Given the description of an element on the screen output the (x, y) to click on. 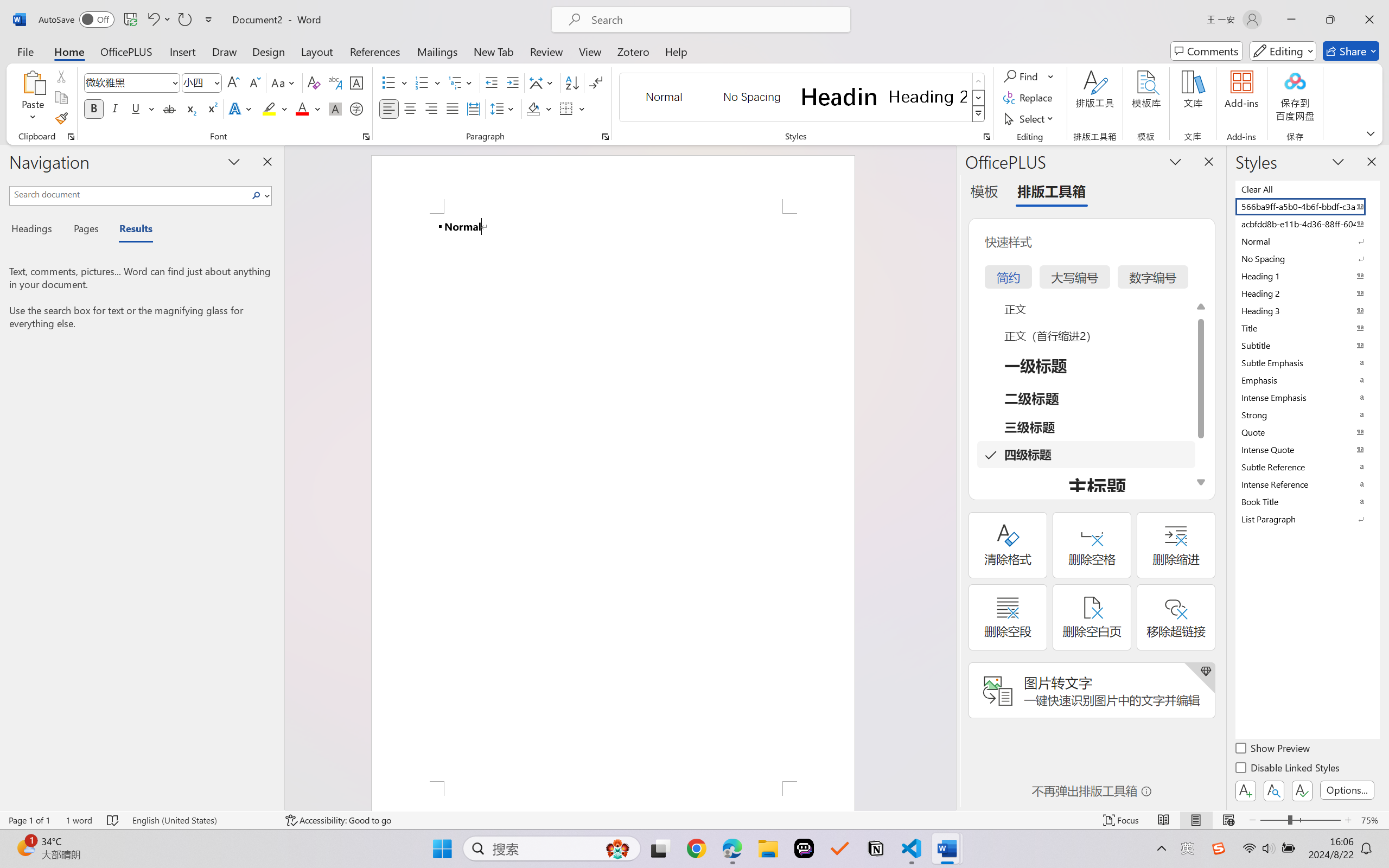
Intense Reference (1306, 484)
AutoSave (76, 19)
Restore Down (1330, 19)
Help (675, 51)
Font Color Red (302, 108)
Subtle Emphasis (1306, 362)
Mailings (437, 51)
Clear All (1306, 188)
Text Highlight Color Yellow (269, 108)
References (375, 51)
Class: Image (1218, 847)
